Given the description of an element on the screen output the (x, y) to click on. 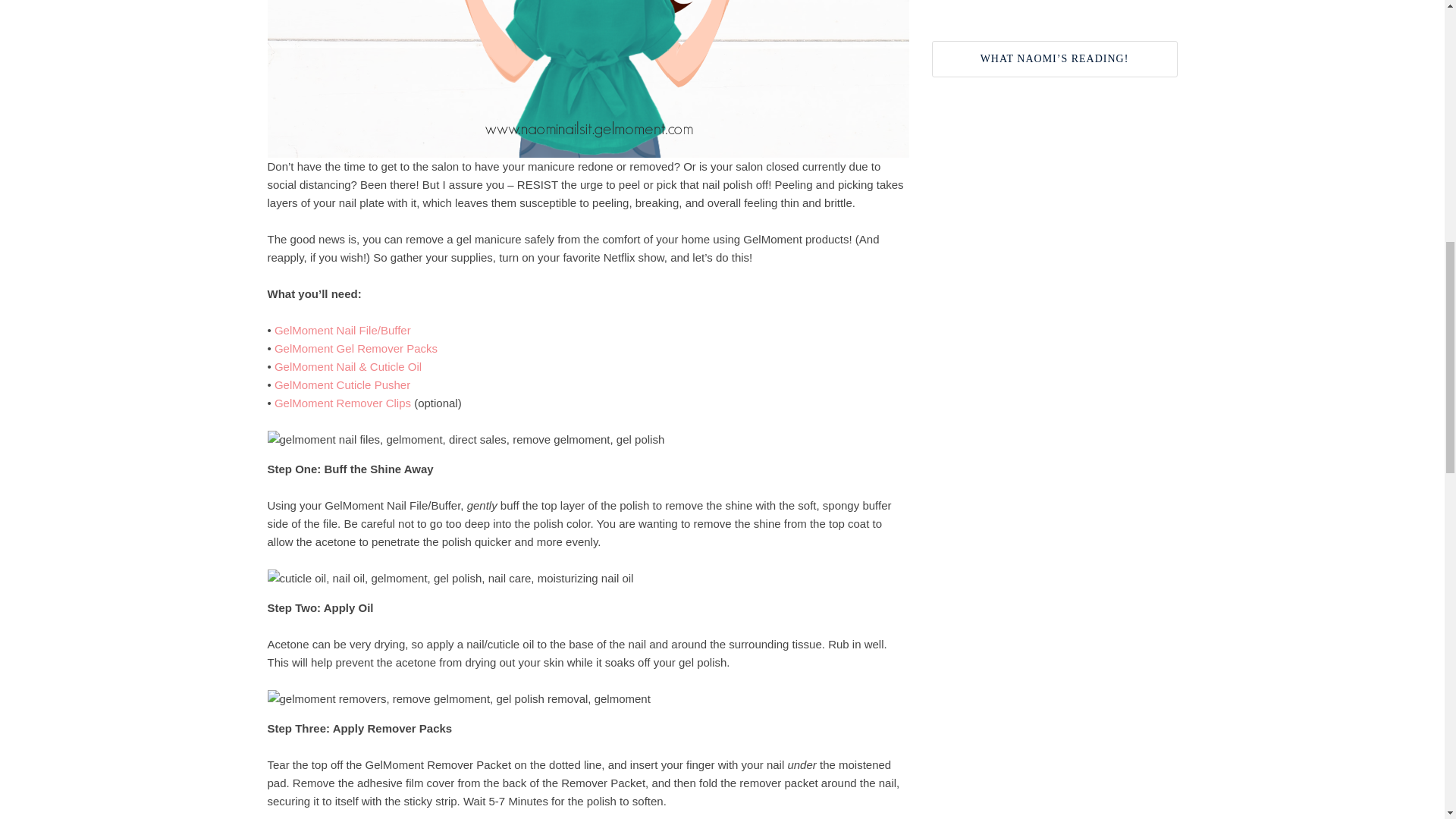
GelMoment Cuticle Pusher (342, 383)
GelMoment Gel Remover Packs (356, 347)
How to Remove a Gel Manicure Safely (587, 79)
GelMoment Remover Clips (344, 401)
